Given the description of an element on the screen output the (x, y) to click on. 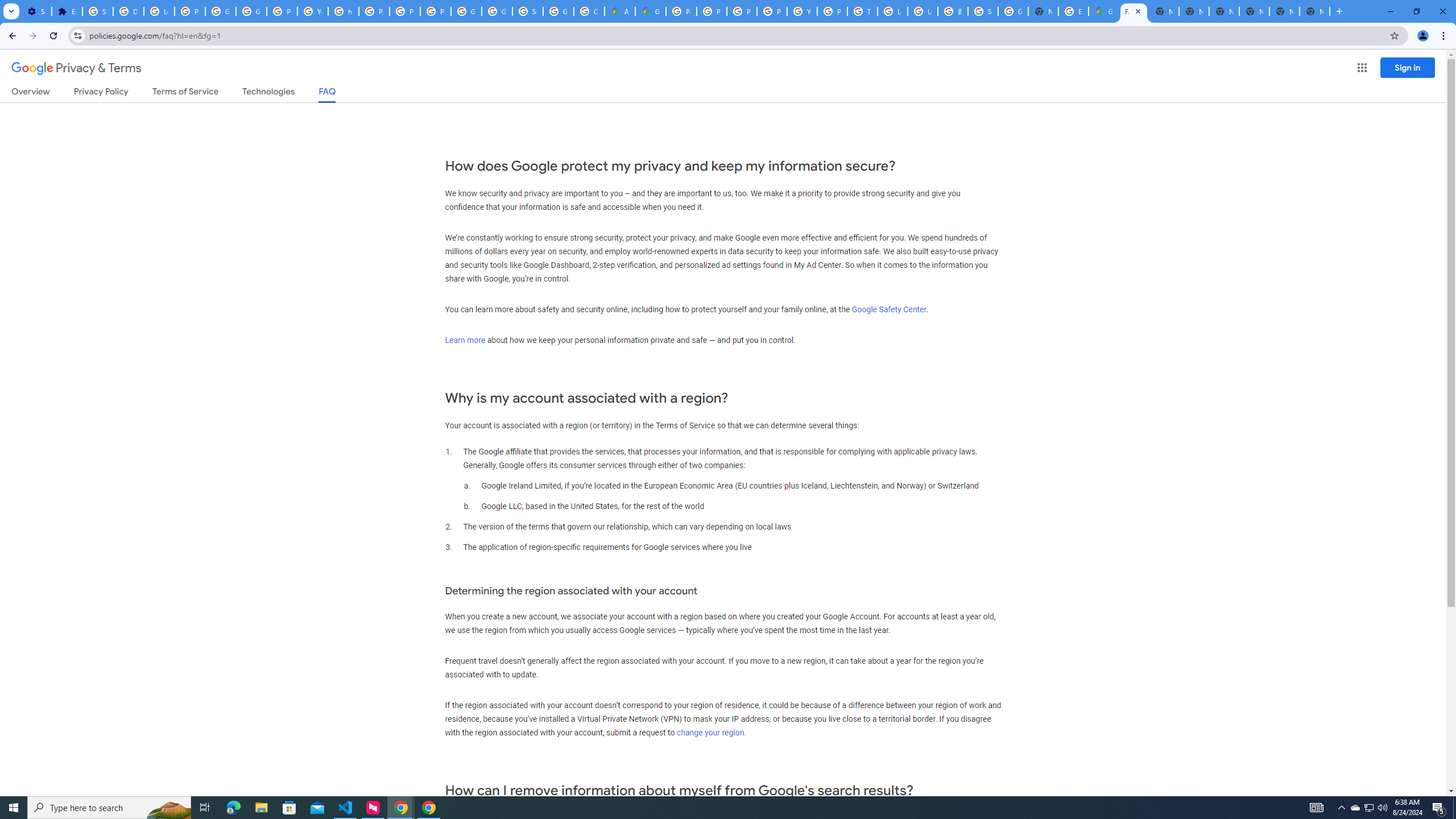
Privacy Help Center - Policies Help (711, 11)
Learn more (465, 339)
Learn how to find your photos - Google Photos Help (158, 11)
New Tab (1314, 11)
Extensions (66, 11)
Explore new street-level details - Google Maps Help (1072, 11)
Terms of Service (184, 93)
YouTube (801, 11)
YouTube (312, 11)
Policy Accountability and Transparency - Transparency Center (681, 11)
Google Account Help (220, 11)
